Given the description of an element on the screen output the (x, y) to click on. 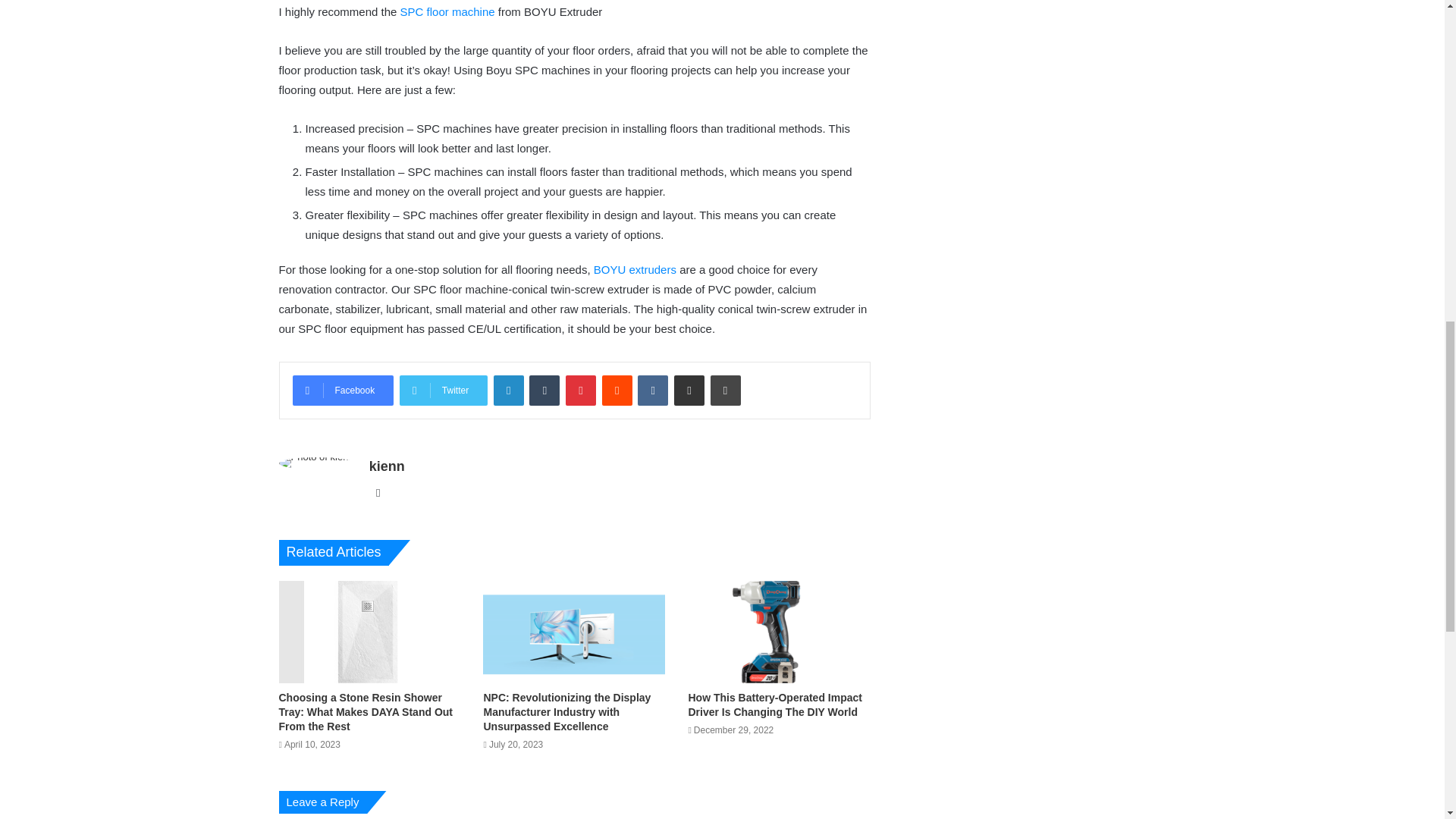
Share via Email (689, 390)
VKontakte (652, 390)
Website (378, 493)
LinkedIn (508, 390)
Tumblr (544, 390)
LinkedIn (508, 390)
Share via Email (689, 390)
Print (725, 390)
Print (725, 390)
kienn (386, 466)
Reddit (616, 390)
Facebook (343, 390)
Pinterest (580, 390)
